Given the description of an element on the screen output the (x, y) to click on. 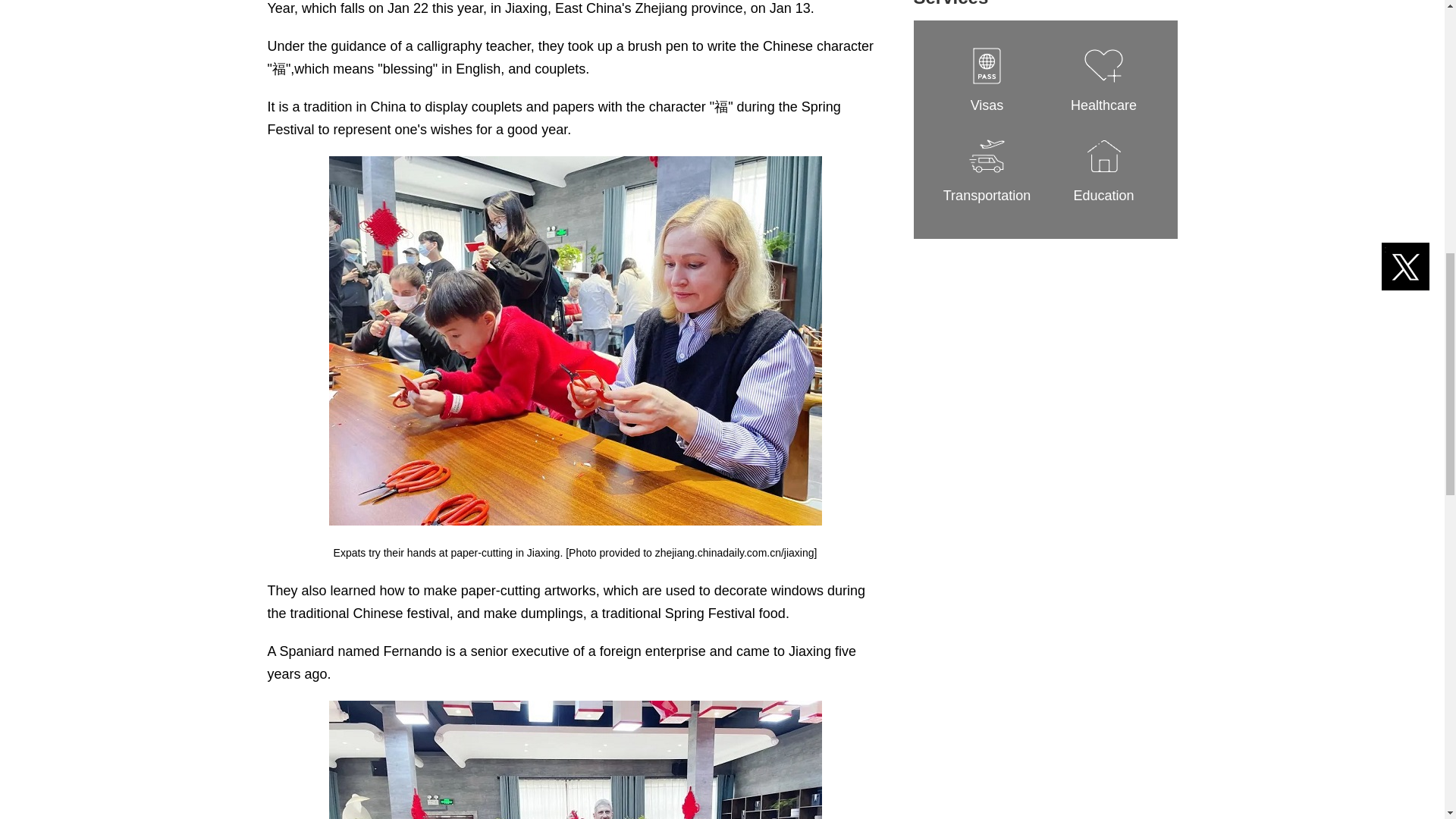
1673847938003056221.jpg (575, 760)
